Given the description of an element on the screen output the (x, y) to click on. 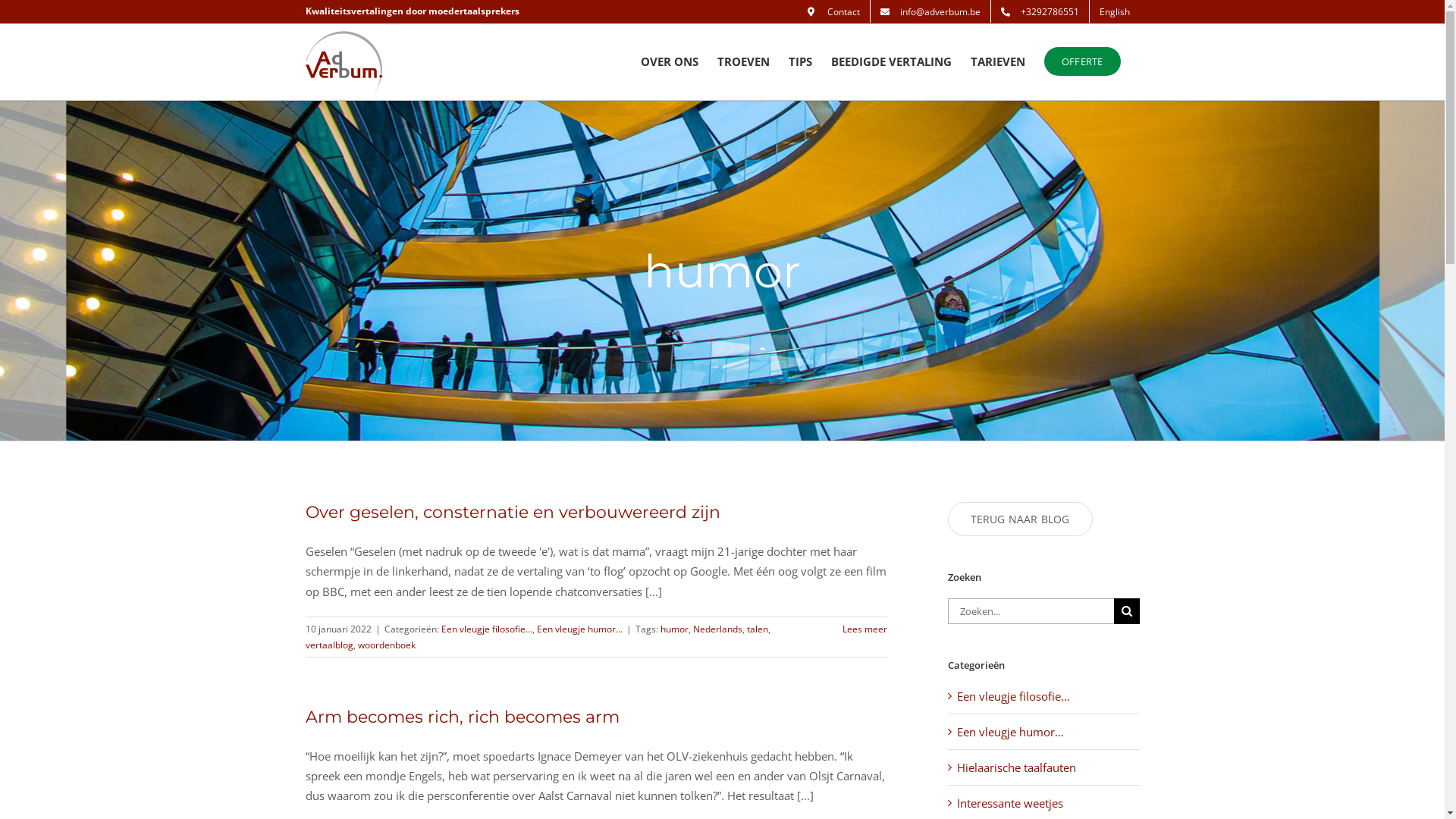
TERUG NAAR BLOG Element type: text (1019, 519)
Contact Element type: text (833, 11)
Een vleugje filosofie... Element type: text (486, 628)
Lees meer Element type: text (863, 628)
English Element type: text (1113, 11)
TROEVEN Element type: text (743, 61)
Arm becomes rich, rich becomes arm Element type: text (461, 716)
OVER ONS Element type: text (669, 61)
Interessante weetjes Element type: text (1044, 802)
vertaalblog Element type: text (328, 644)
OFFERTE Element type: text (1082, 61)
BEEDIGDE VERTALING Element type: text (891, 61)
Een vleugje humor... Element type: text (579, 628)
talen Element type: text (756, 628)
Over geselen, consternatie en verbouwereerd zijn Element type: text (511, 512)
woordenboek Element type: text (386, 644)
TARIEVEN Element type: text (997, 61)
humor Element type: text (673, 628)
Hielaarische taalfauten Element type: text (1044, 767)
info@adverbum.be Element type: text (930, 11)
Nederlands Element type: text (717, 628)
TIPS Element type: text (800, 61)
+3292786551 Element type: text (1039, 11)
